Given the description of an element on the screen output the (x, y) to click on. 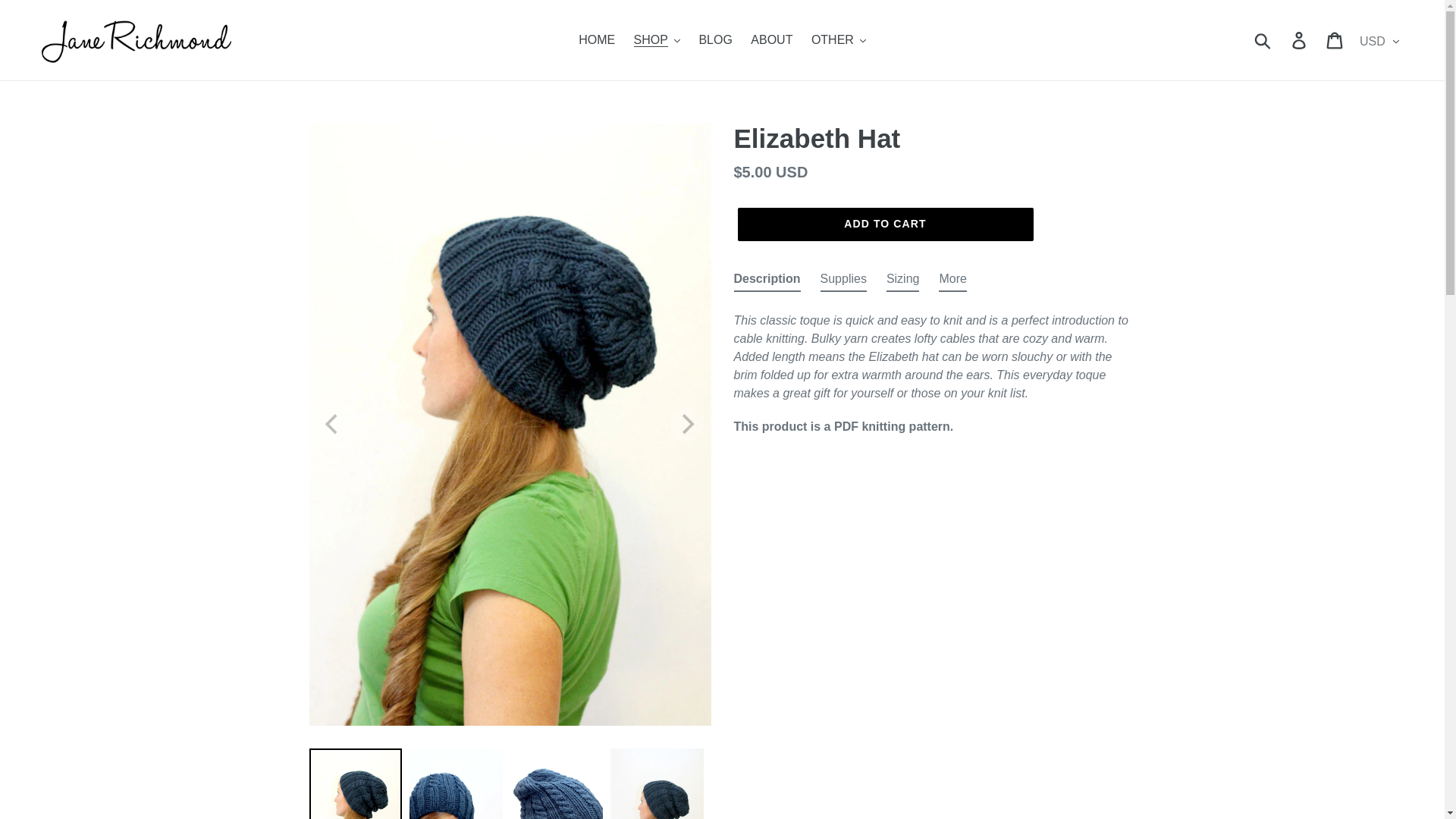
ABOUT (770, 39)
Submit (1263, 39)
Log in (1299, 39)
HOME (596, 39)
BLOG (714, 39)
Cart (1335, 39)
